Given the description of an element on the screen output the (x, y) to click on. 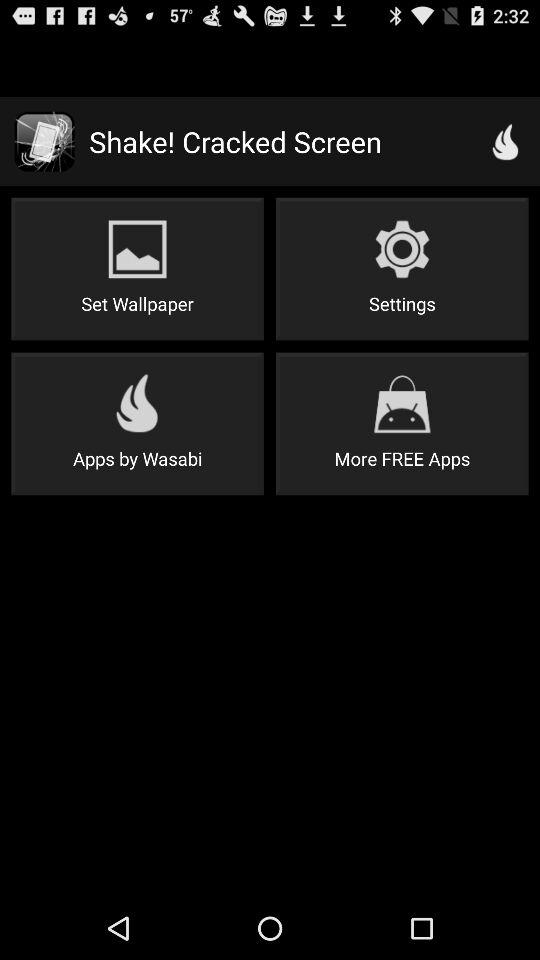
choose item next to the settings button (137, 268)
